Given the description of an element on the screen output the (x, y) to click on. 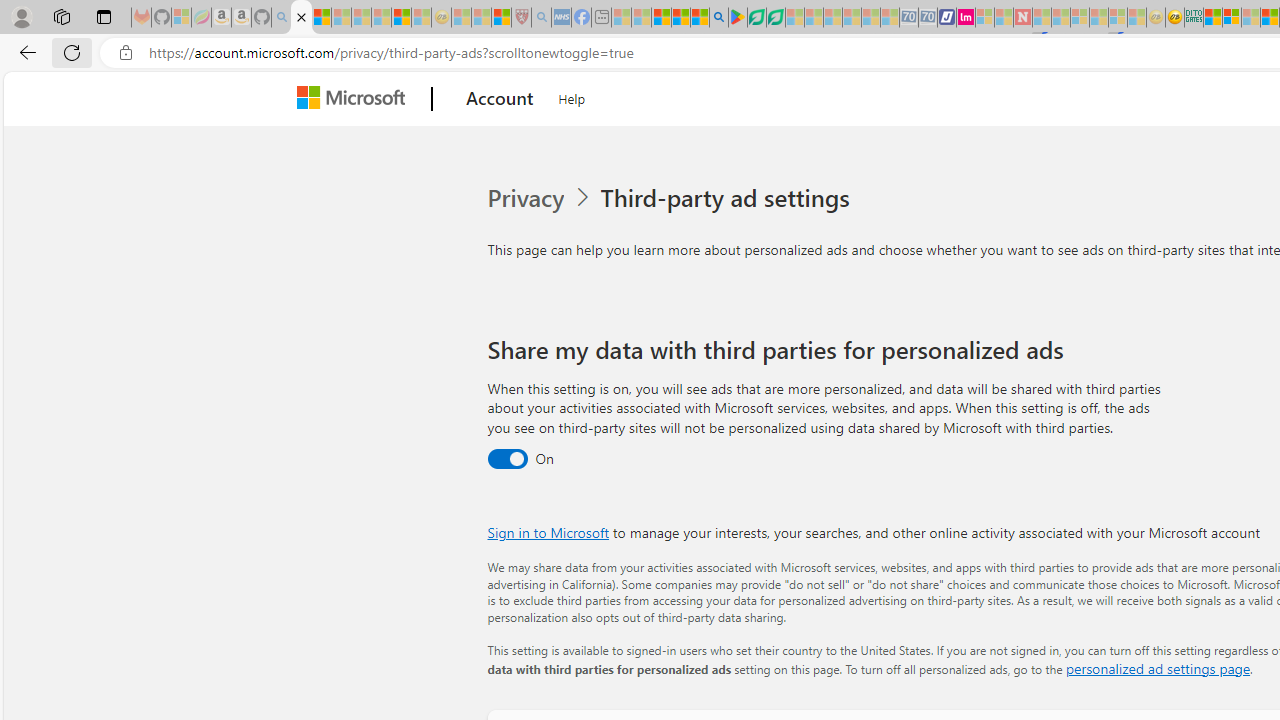
personalized ad settings page (1157, 668)
